Given the description of an element on the screen output the (x, y) to click on. 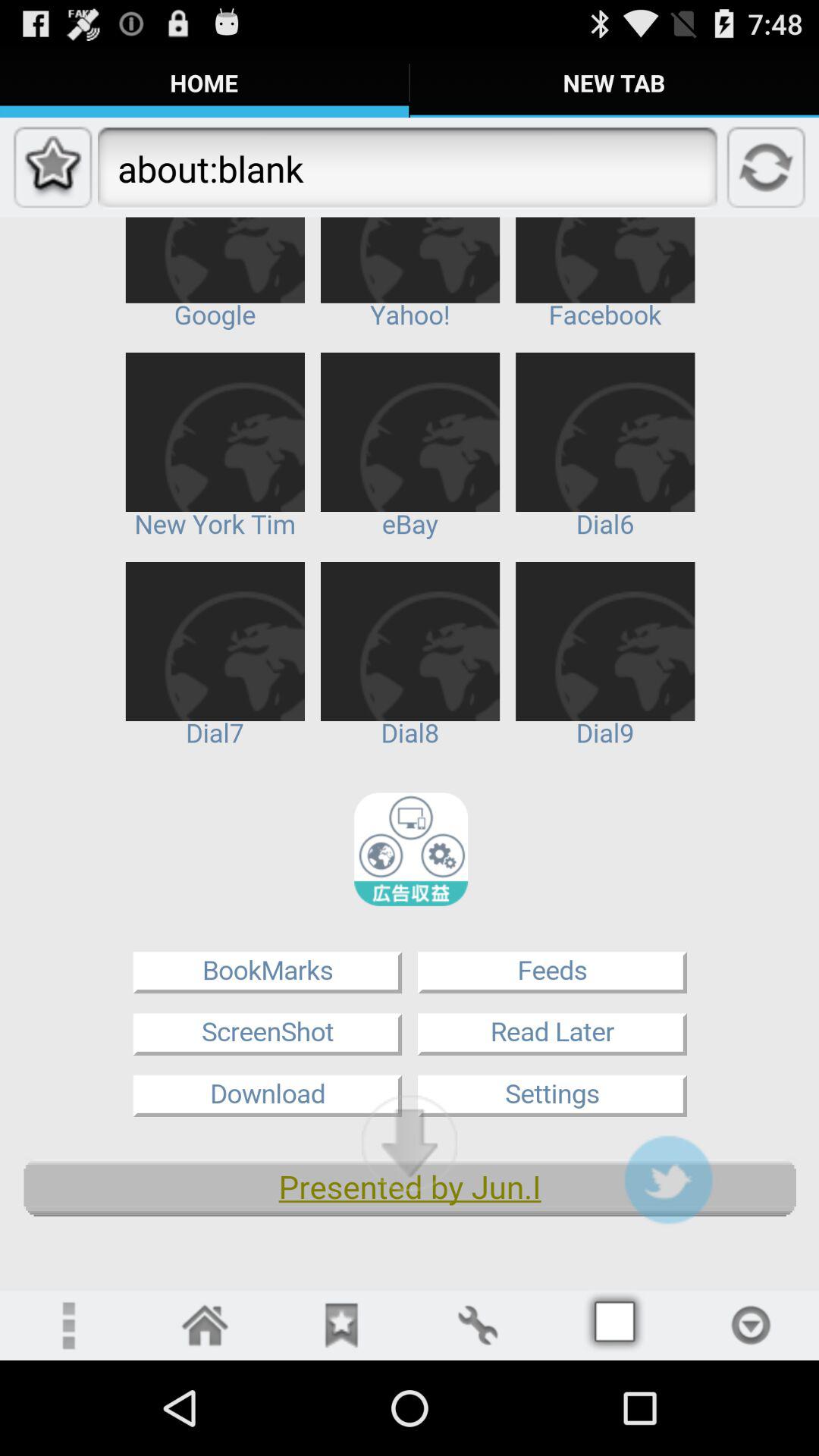
setting option (68, 1325)
